Given the description of an element on the screen output the (x, y) to click on. 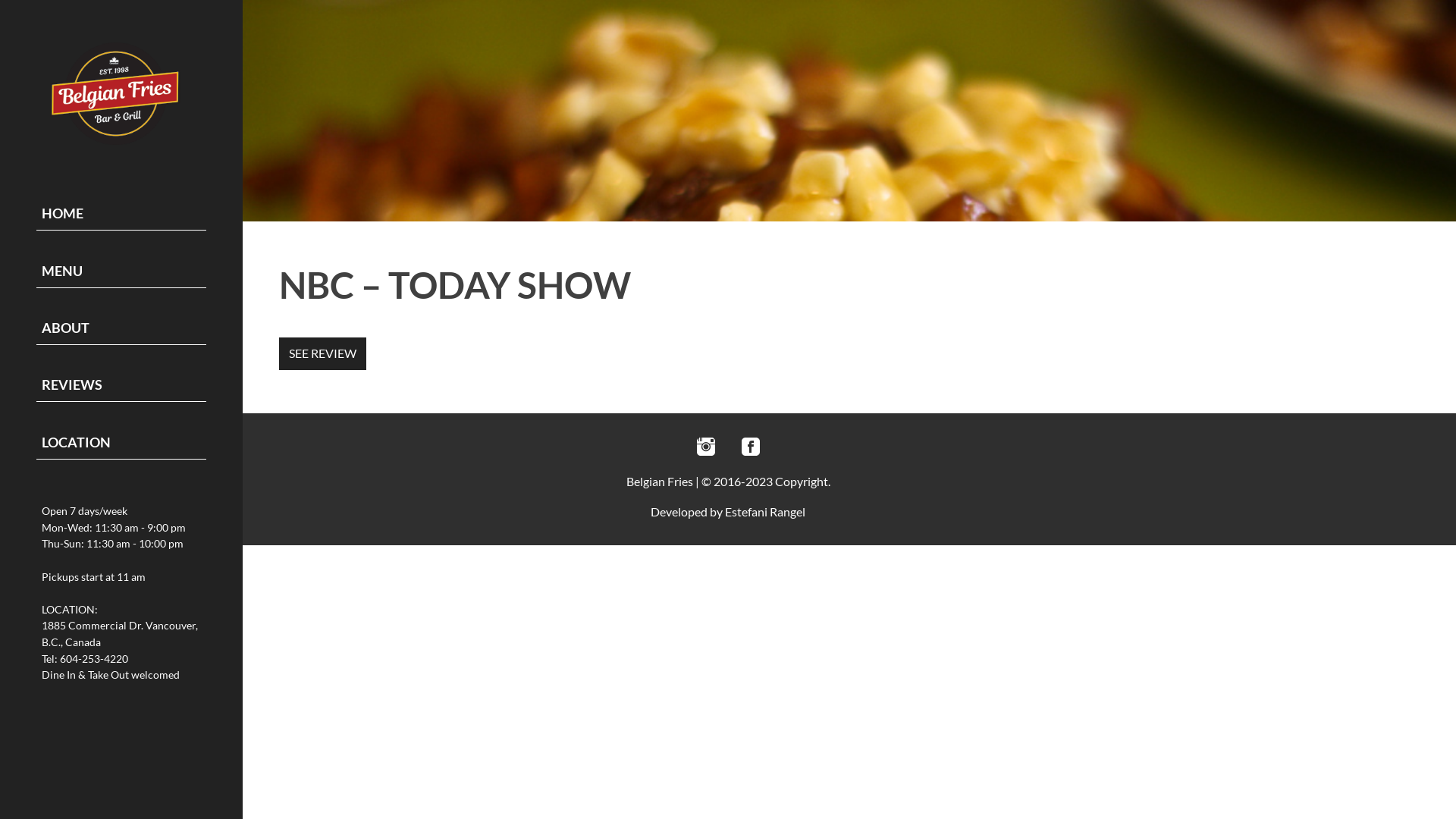
Skip to content Element type: text (0, 0)
REVIEWS Element type: text (121, 385)
MENU Element type: text (121, 270)
Estefani Rangel Element type: text (764, 511)
LOCATION Element type: text (121, 442)
ABOUT Element type: text (121, 328)
SEE REVIEW Element type: text (322, 352)
HOME Element type: text (121, 213)
